Given the description of an element on the screen output the (x, y) to click on. 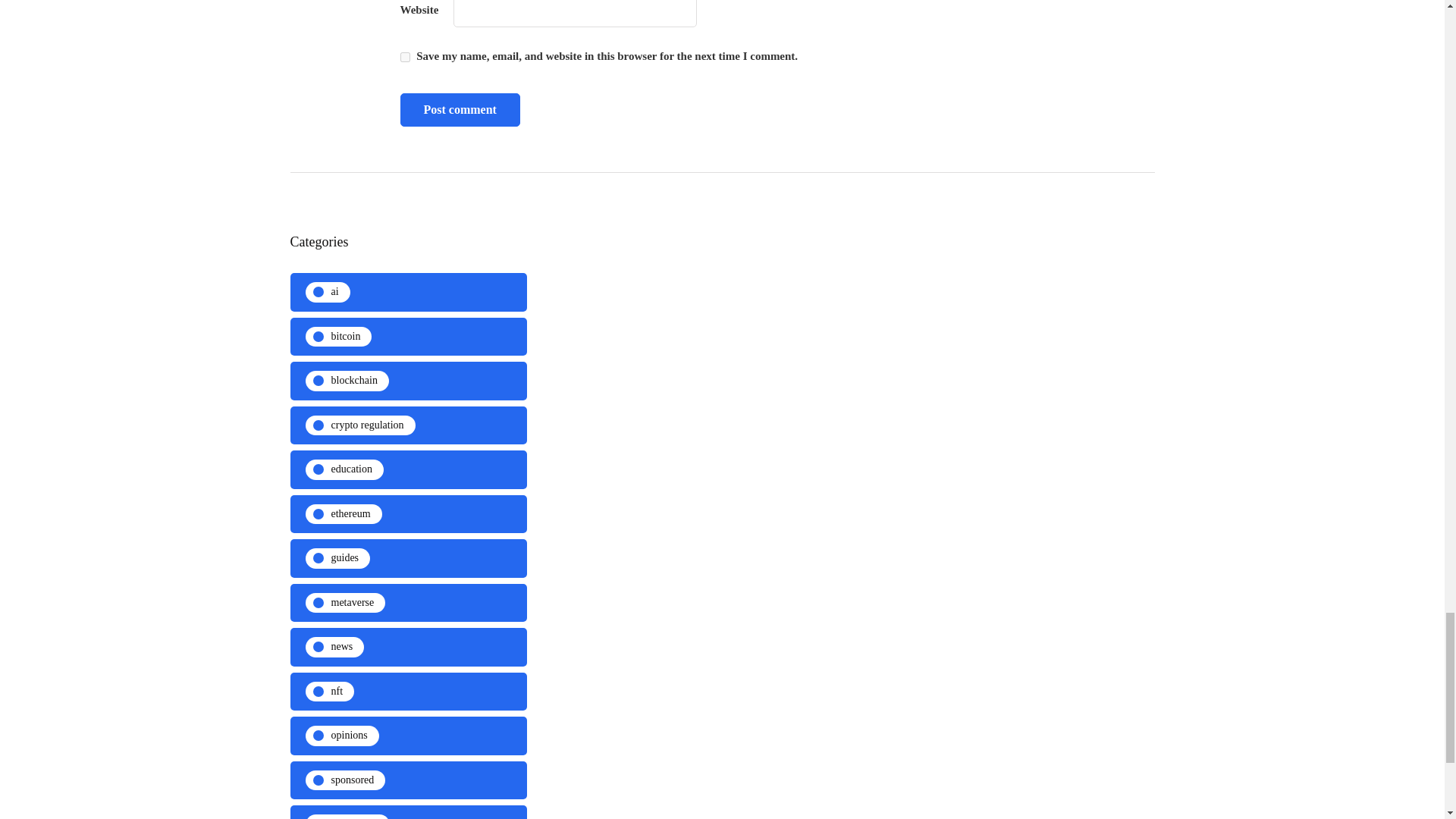
Post comment (459, 109)
yes (405, 57)
